Given the description of an element on the screen output the (x, y) to click on. 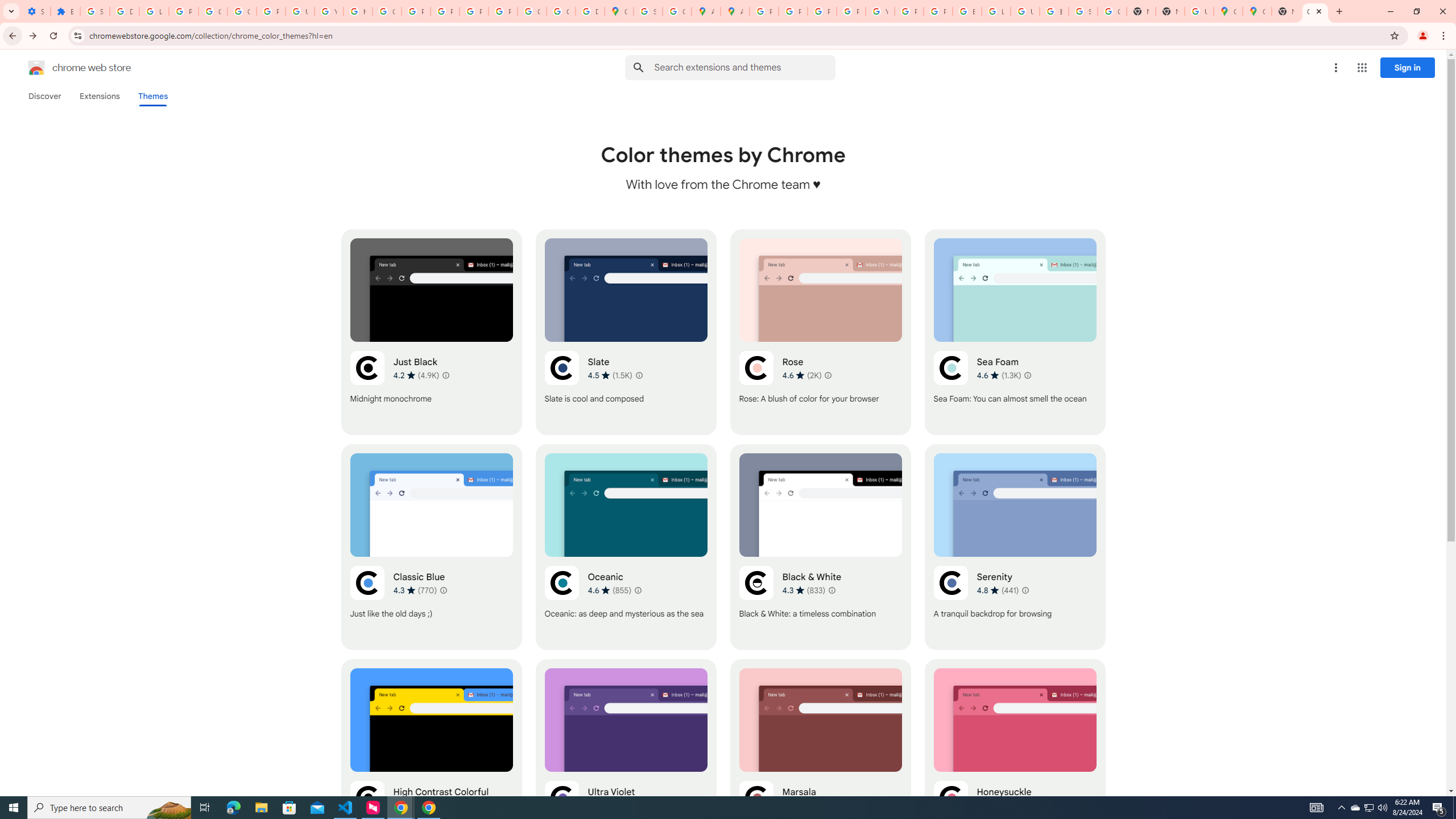
Average rating 4.2 out of 5 stars. 4.9K ratings. (416, 375)
YouTube (879, 11)
Chrome Web Store - Color themes by Chrome (1315, 11)
Learn more about results and reviews "Oceanic" (637, 590)
Google Maps (1227, 11)
